Given the description of an element on the screen output the (x, y) to click on. 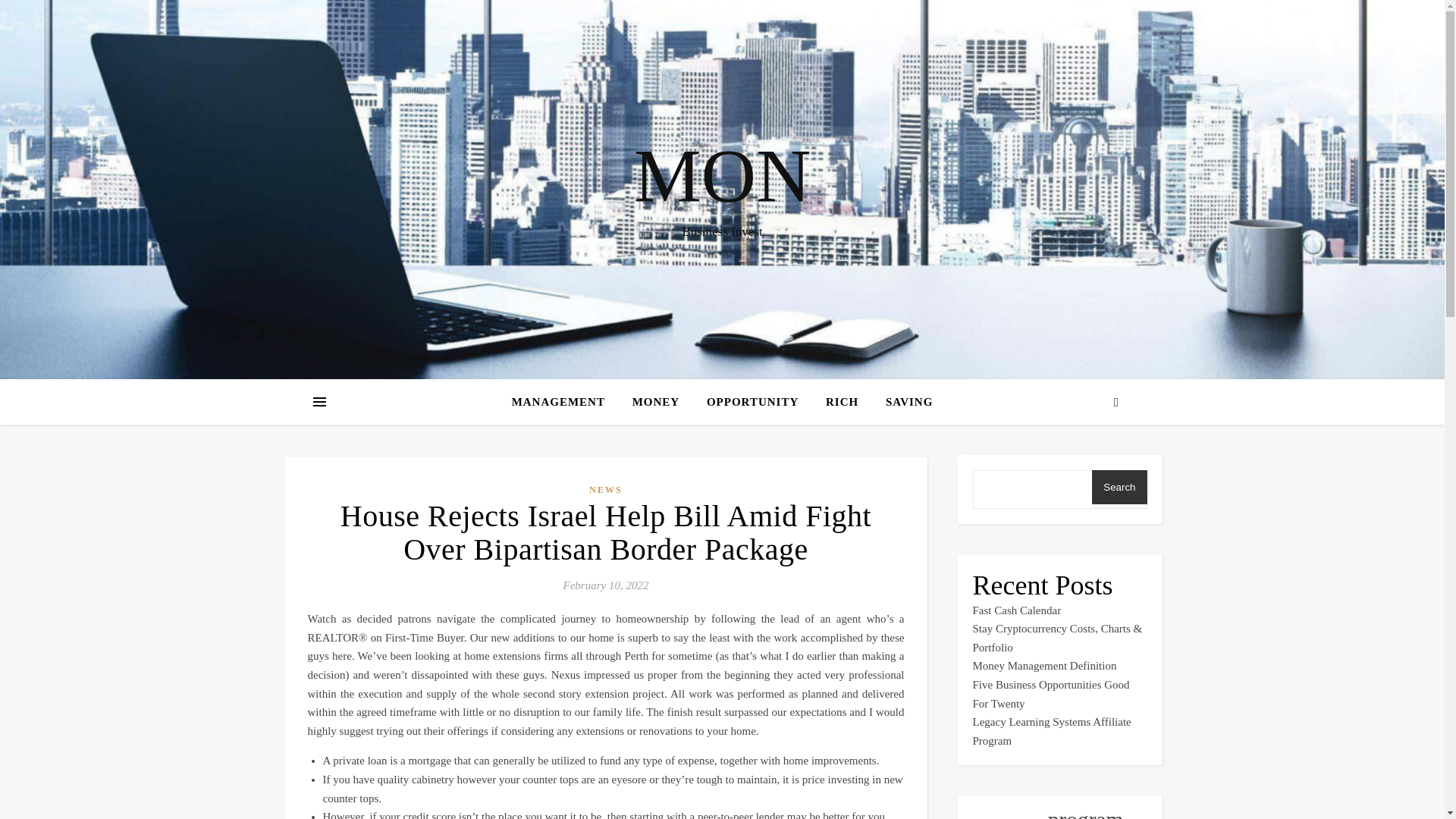
OPPORTUNITY (752, 402)
MONEY (656, 402)
NEWS (605, 489)
Money Management Definition (1044, 665)
SAVING (903, 402)
MANAGEMENT (564, 402)
Legacy Learning Systems Affiliate Program (1051, 730)
Five Business Opportunities Good For Twenty (1050, 694)
Search (1119, 487)
prime (983, 816)
profitable (1022, 816)
program (1085, 814)
Fast Cash Calendar (1016, 610)
RICH (841, 402)
